Given the description of an element on the screen output the (x, y) to click on. 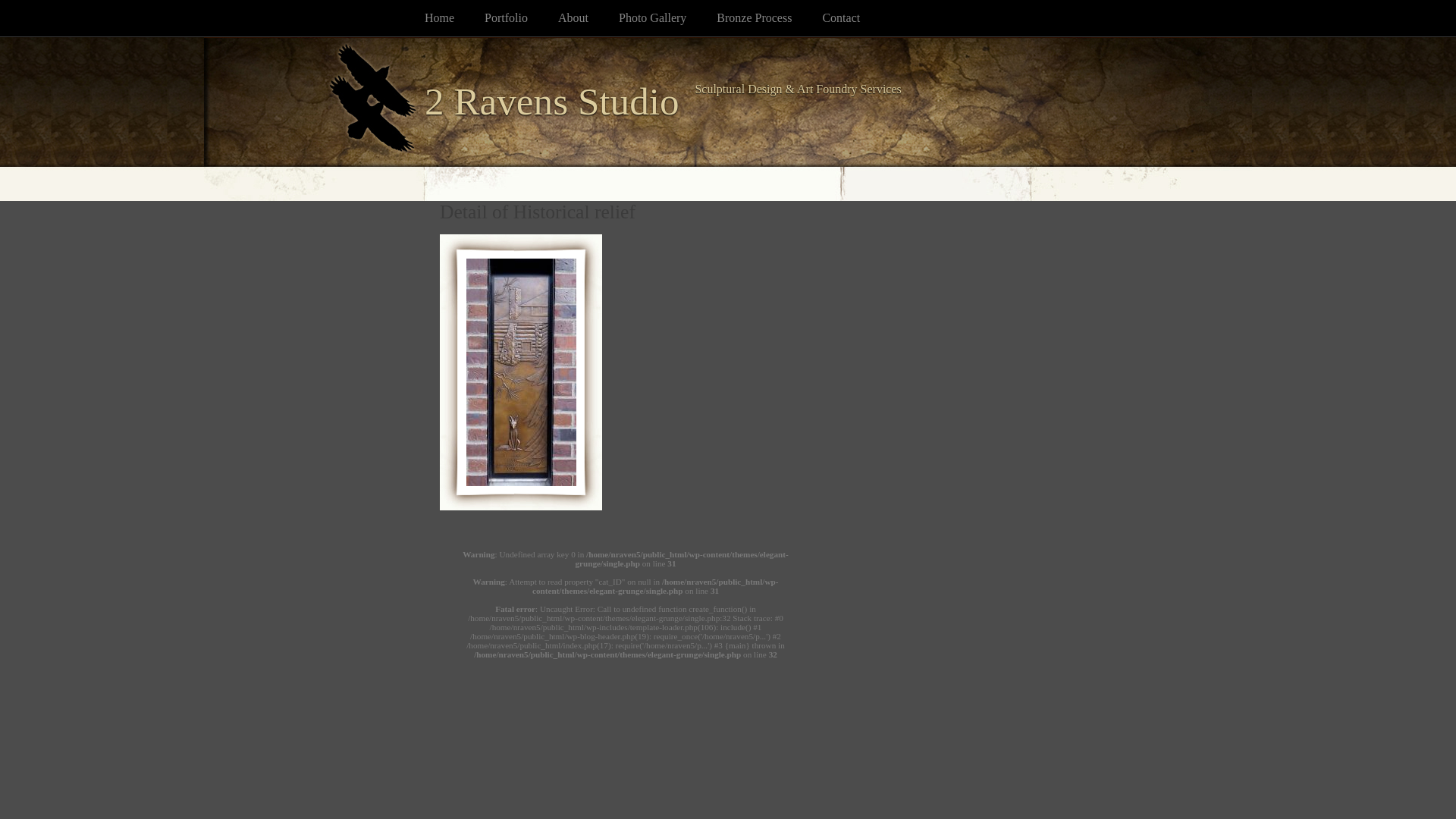
Contact Element type: text (856, 18)
Home Element type: text (454, 18)
Photo Gallery Element type: text (667, 18)
Portfolio Element type: text (521, 18)
Bronze Process Element type: text (769, 18)
About Element type: text (588, 18)
2 Ravens Studio Element type: text (551, 101)
